Given the description of an element on the screen output the (x, y) to click on. 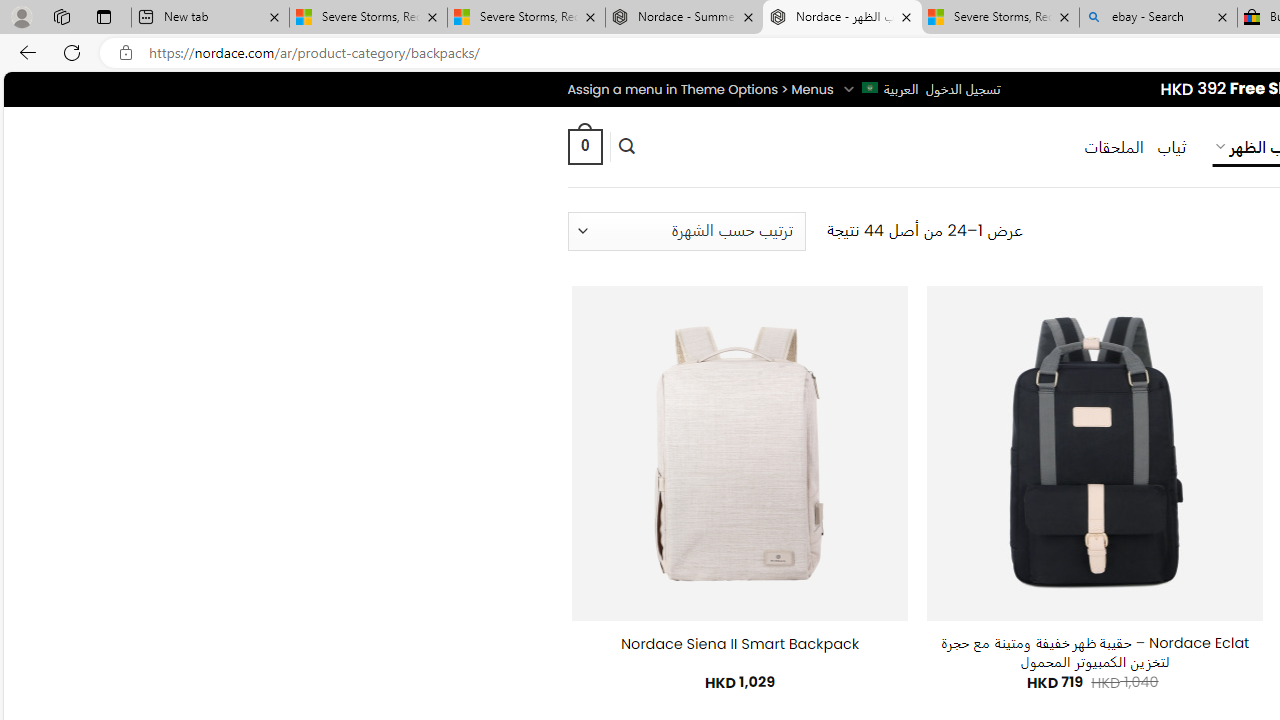
  0   (584, 146)
